Given the description of an element on the screen output the (x, y) to click on. 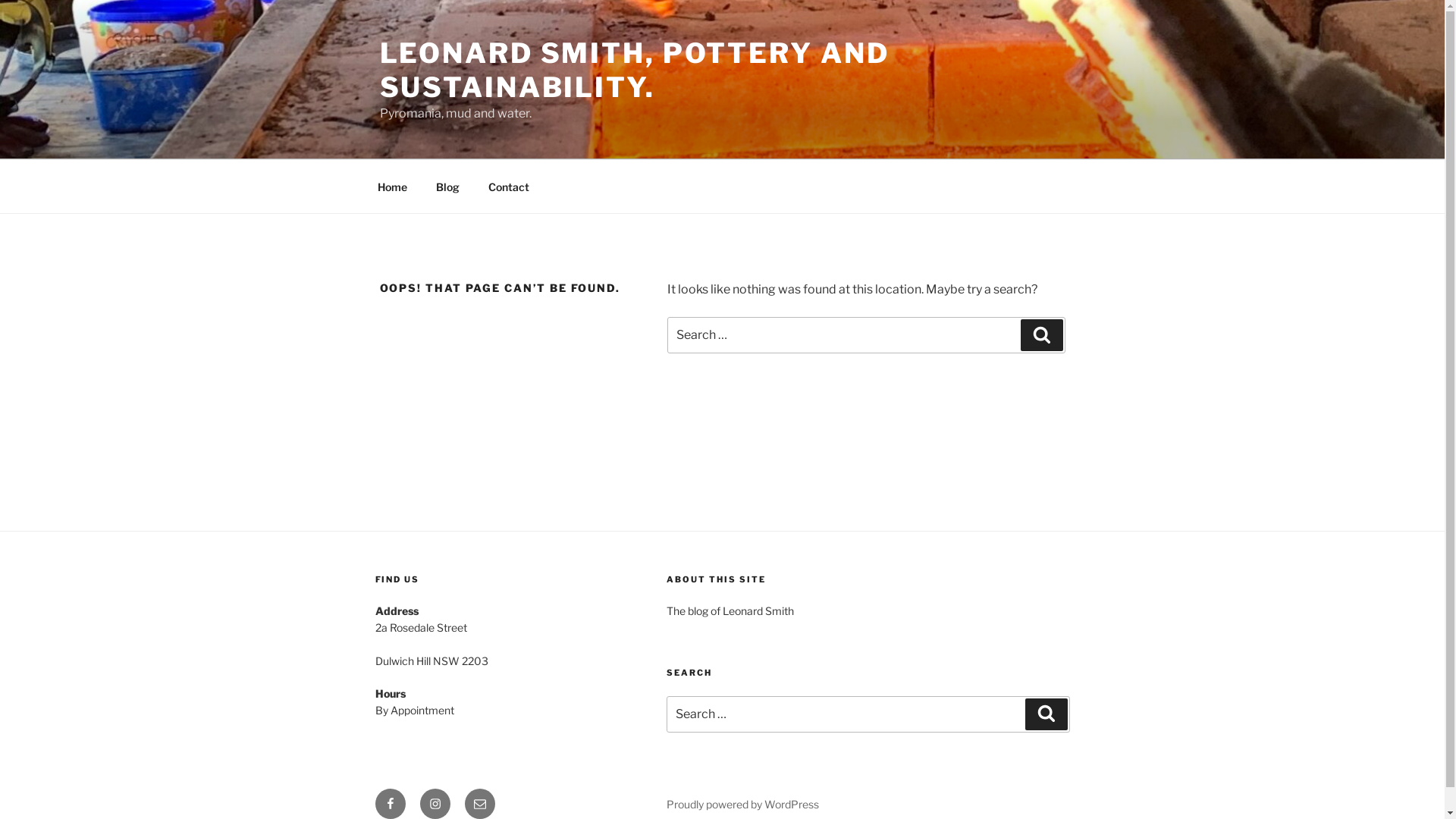
Search Element type: text (1046, 714)
LEONARD SMITH, POTTERY AND SUSTAINABILITY. Element type: text (633, 69)
Contact Element type: text (508, 186)
Blog Element type: text (448, 186)
Proudly powered by WordPress Element type: text (742, 803)
Search Element type: text (1041, 335)
Home Element type: text (392, 186)
